Given the description of an element on the screen output the (x, y) to click on. 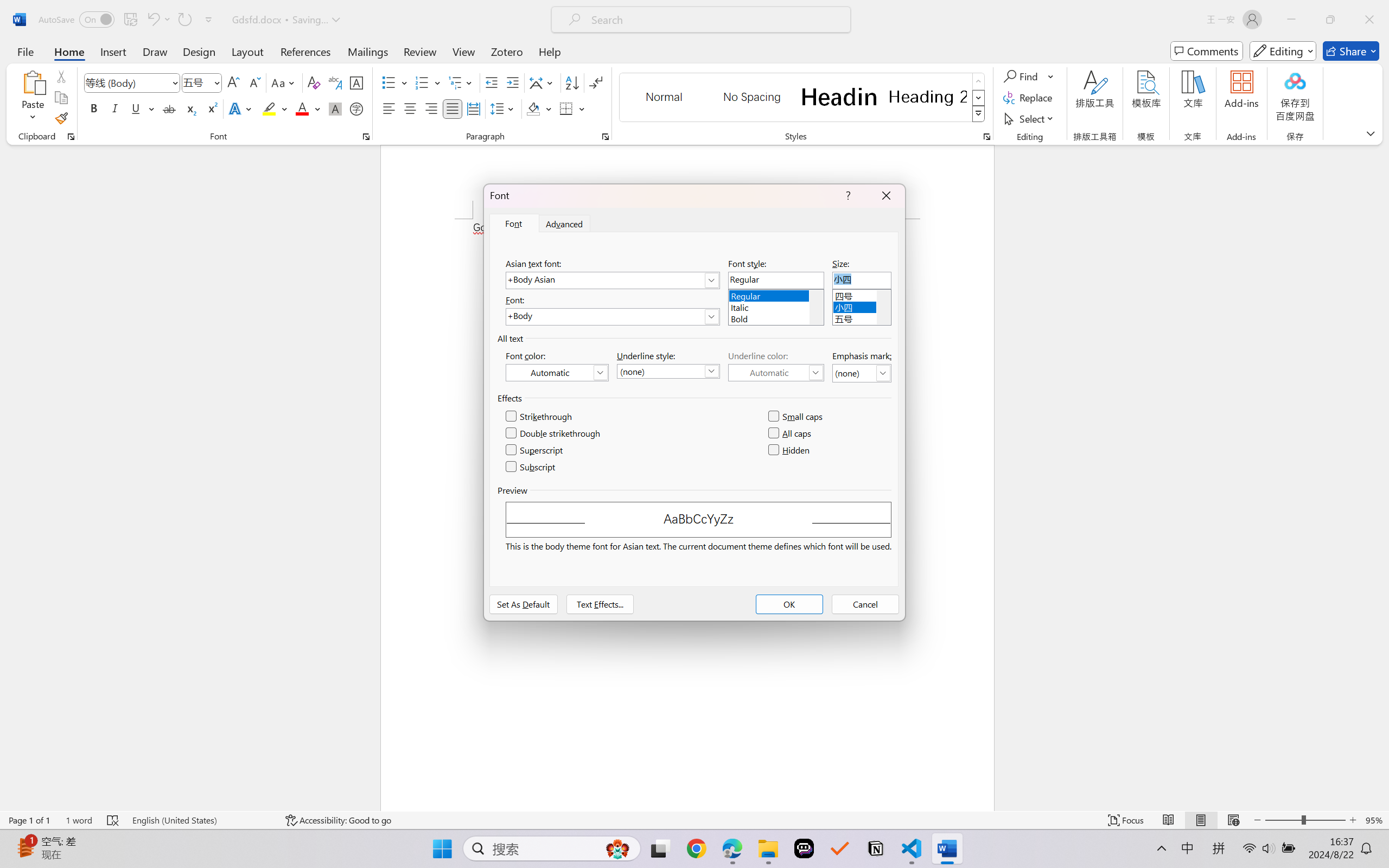
Enclose Characters... (356, 108)
Grow Font (233, 82)
Phonetic Guide... (334, 82)
Office Clipboard... (70, 136)
